Given the description of an element on the screen output the (x, y) to click on. 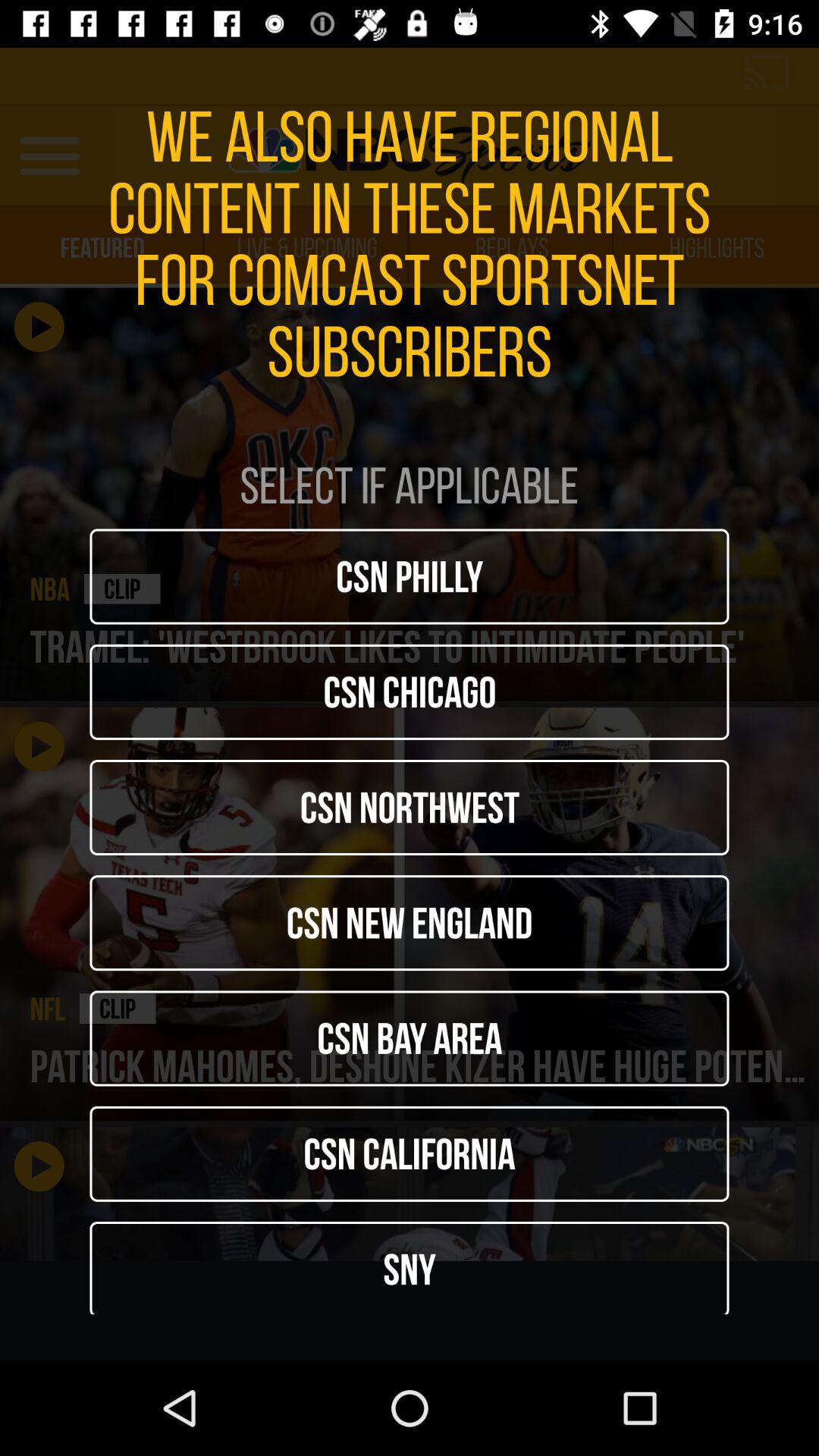
choose icon below the csn philly icon (409, 691)
